Given the description of an element on the screen output the (x, y) to click on. 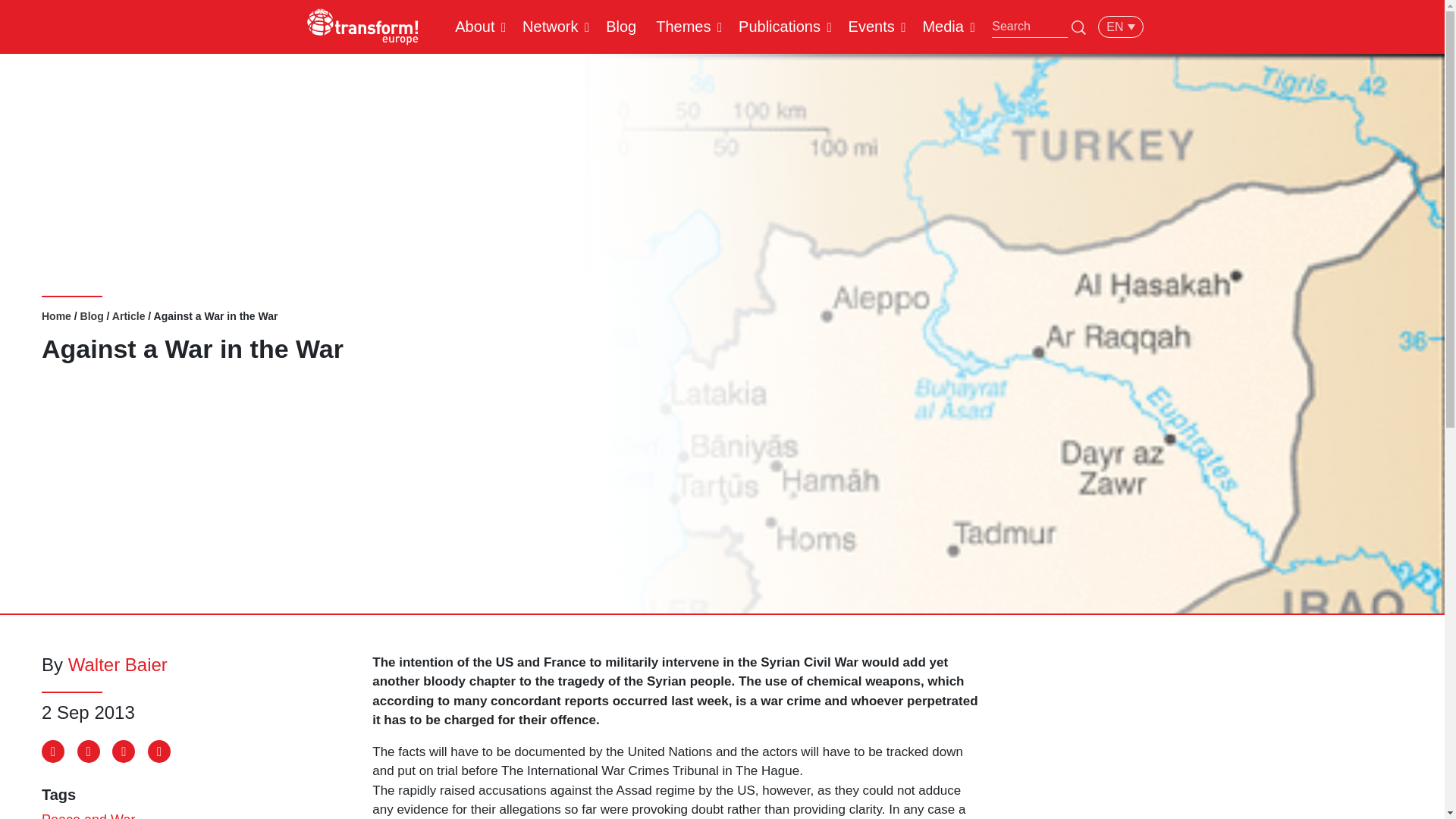
Media (942, 26)
About (474, 26)
Themes (683, 26)
Publications (779, 26)
EN (1119, 26)
Share on Twitter (88, 751)
Send by email (159, 751)
Network (550, 26)
Share on Telegram (123, 751)
Events (871, 26)
Share on Facebook (53, 751)
Blog (620, 26)
